Given the description of an element on the screen output the (x, y) to click on. 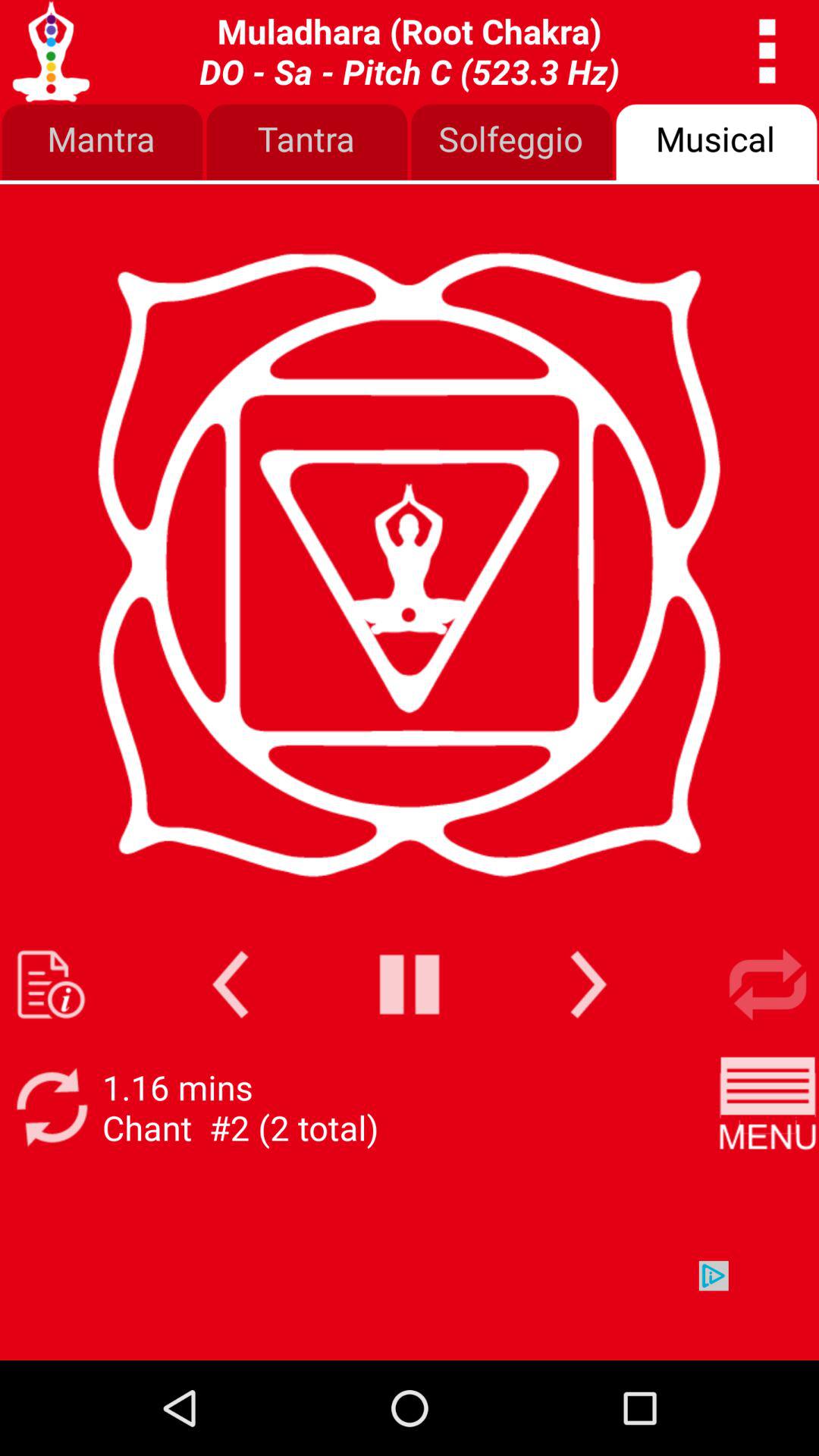
click icon to the left of tantra button (102, 143)
